Given the description of an element on the screen output the (x, y) to click on. 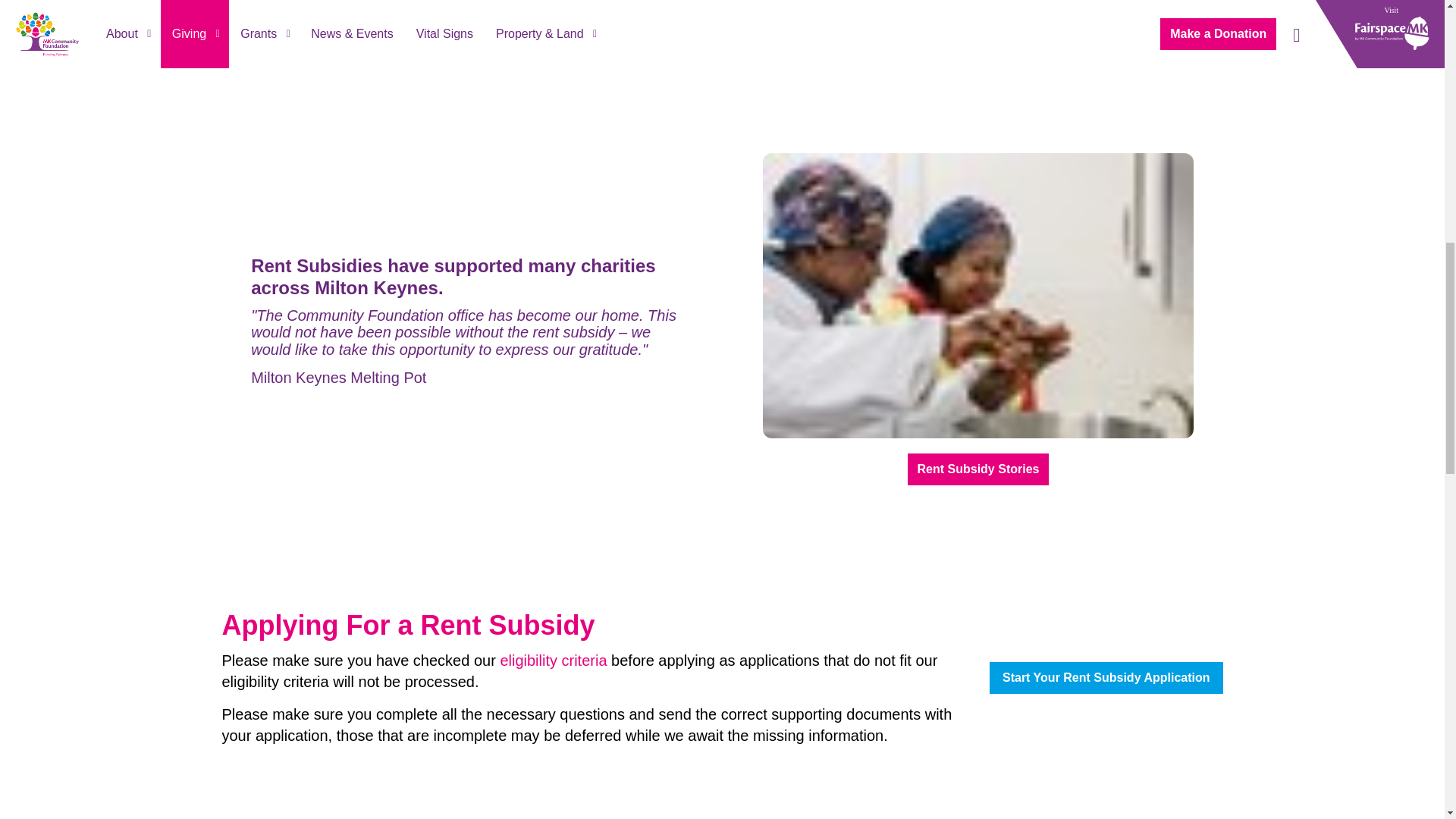
Rent Subsidy Policy Sept 2023 (553, 660)
eligibility criteria (553, 660)
